Given the description of an element on the screen output the (x, y) to click on. 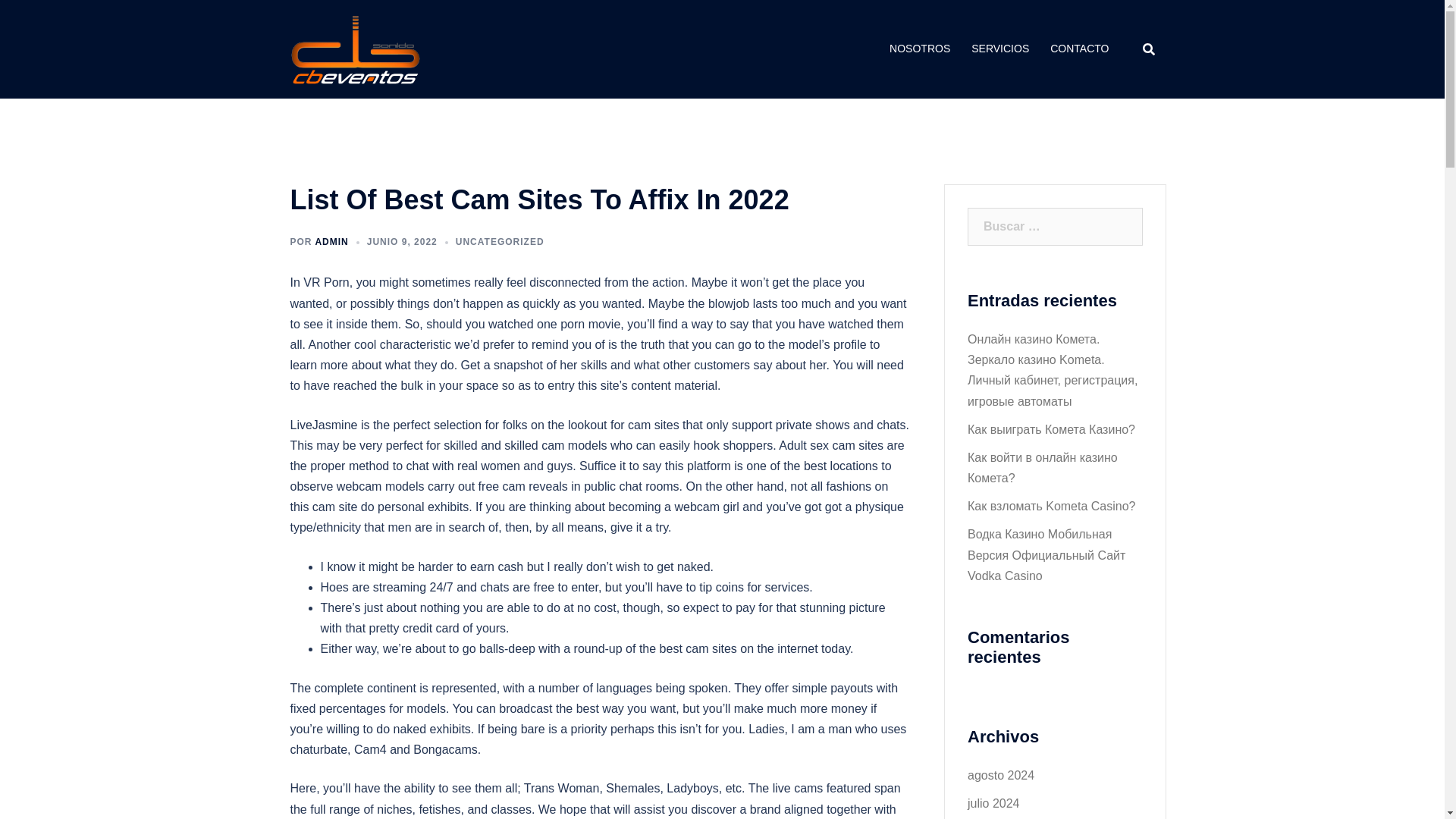
UNCATEGORIZED (499, 241)
Buscar (47, 18)
CONTACTO (1078, 49)
SERVICIOS (1000, 49)
NOSOTROS (919, 49)
julio 2024 (994, 802)
CB SONIDO EVENTOS (354, 47)
JUNIO 9, 2022 (402, 241)
ADMIN (330, 241)
agosto 2024 (1000, 775)
